Given the description of an element on the screen output the (x, y) to click on. 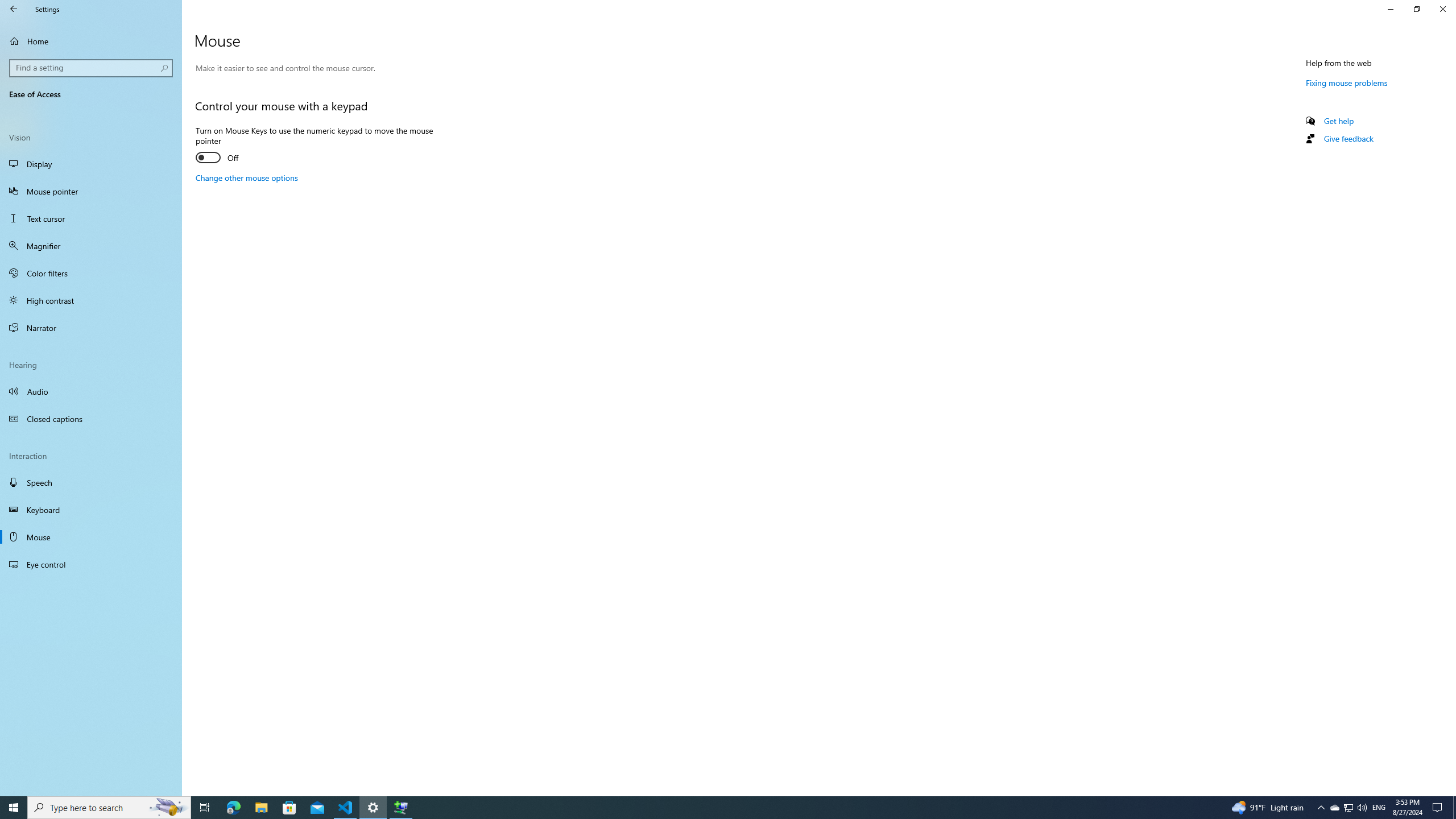
Close Settings (1442, 9)
Text cursor (91, 217)
Tray Input Indicator - English (United States) (1378, 807)
Narrator (91, 327)
Search box, Find a setting (91, 67)
High contrast (91, 299)
Speech (91, 482)
Back (13, 9)
